Given the description of an element on the screen output the (x, y) to click on. 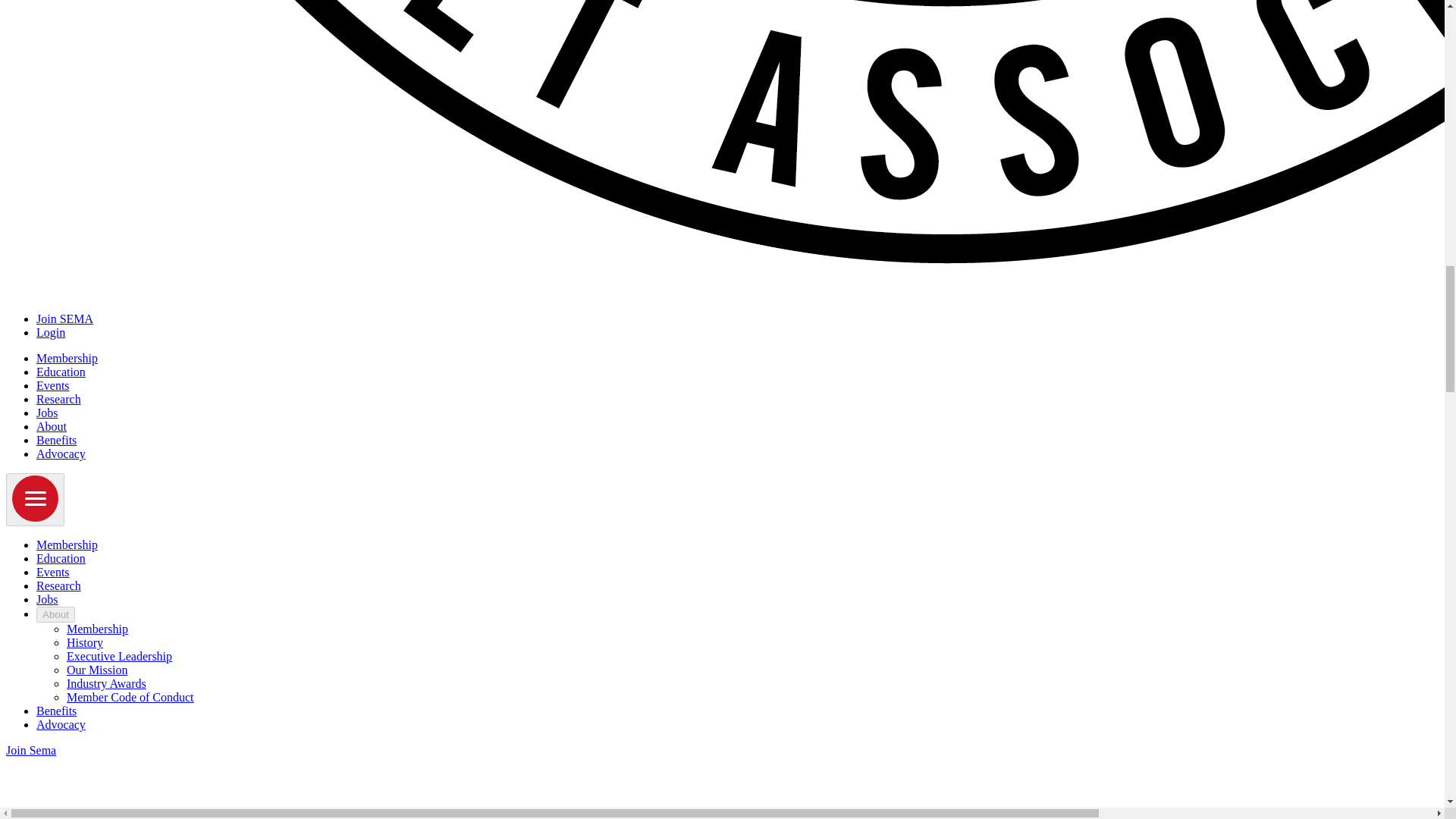
Login (50, 332)
About (55, 614)
Advocacy (60, 724)
History (84, 642)
Membership (66, 358)
Advocacy (60, 453)
Events (52, 385)
Research (58, 399)
Benefits (56, 440)
Events (52, 571)
